Given the description of an element on the screen output the (x, y) to click on. 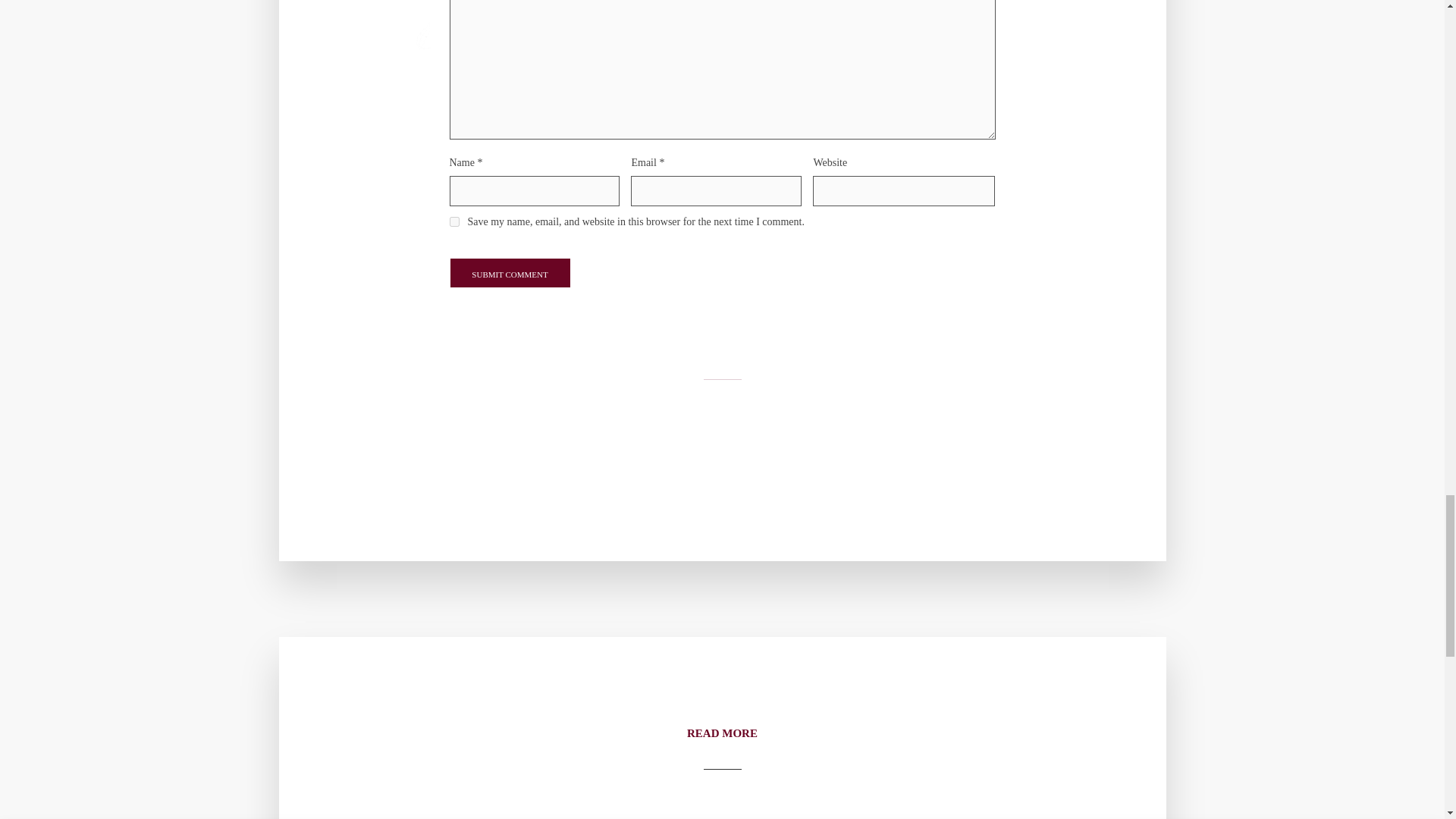
yes (453, 221)
Submit Comment (509, 272)
Submit Comment (509, 272)
